Given the description of an element on the screen output the (x, y) to click on. 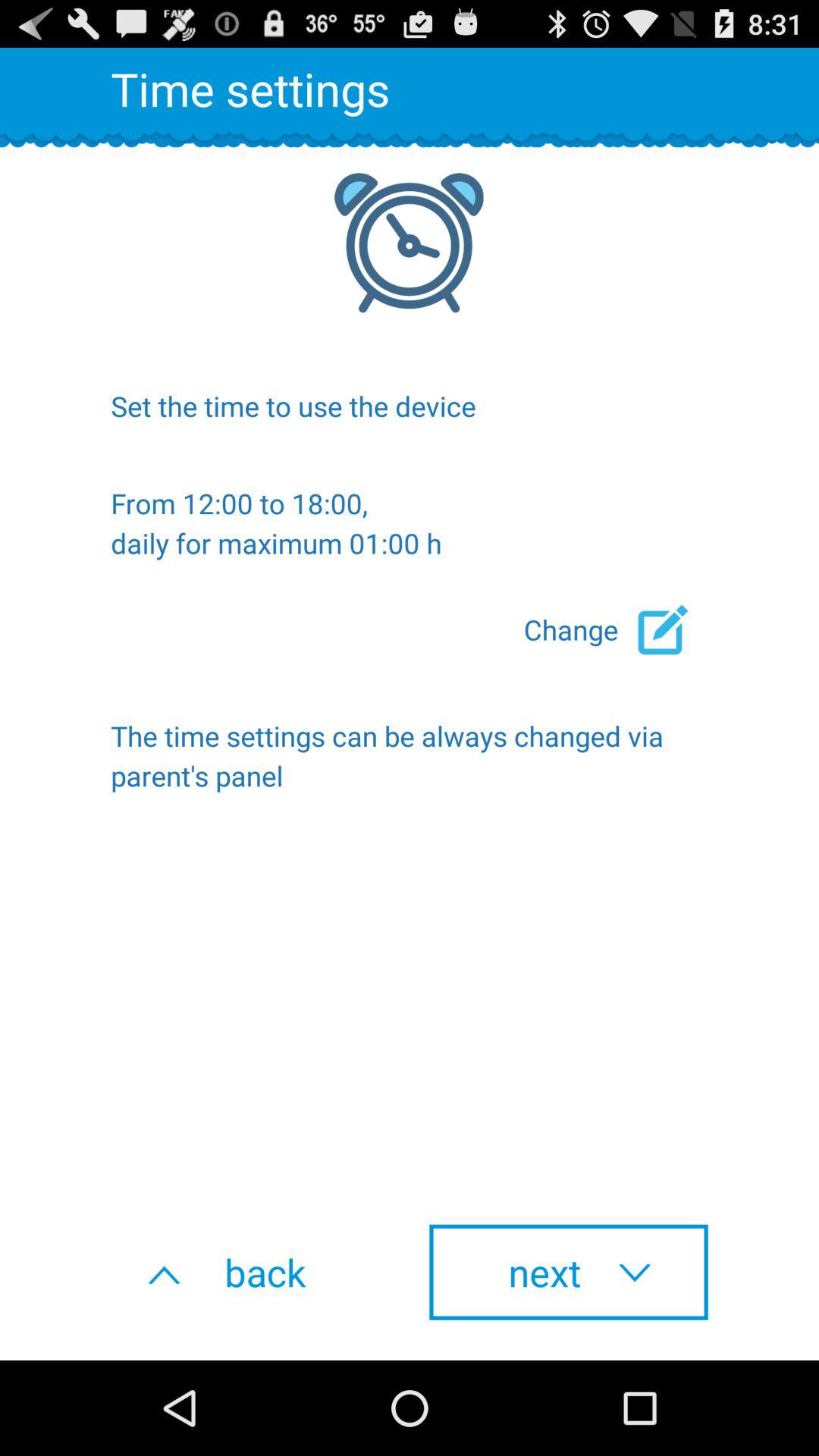
turn off button at the bottom right corner (568, 1272)
